Given the description of an element on the screen output the (x, y) to click on. 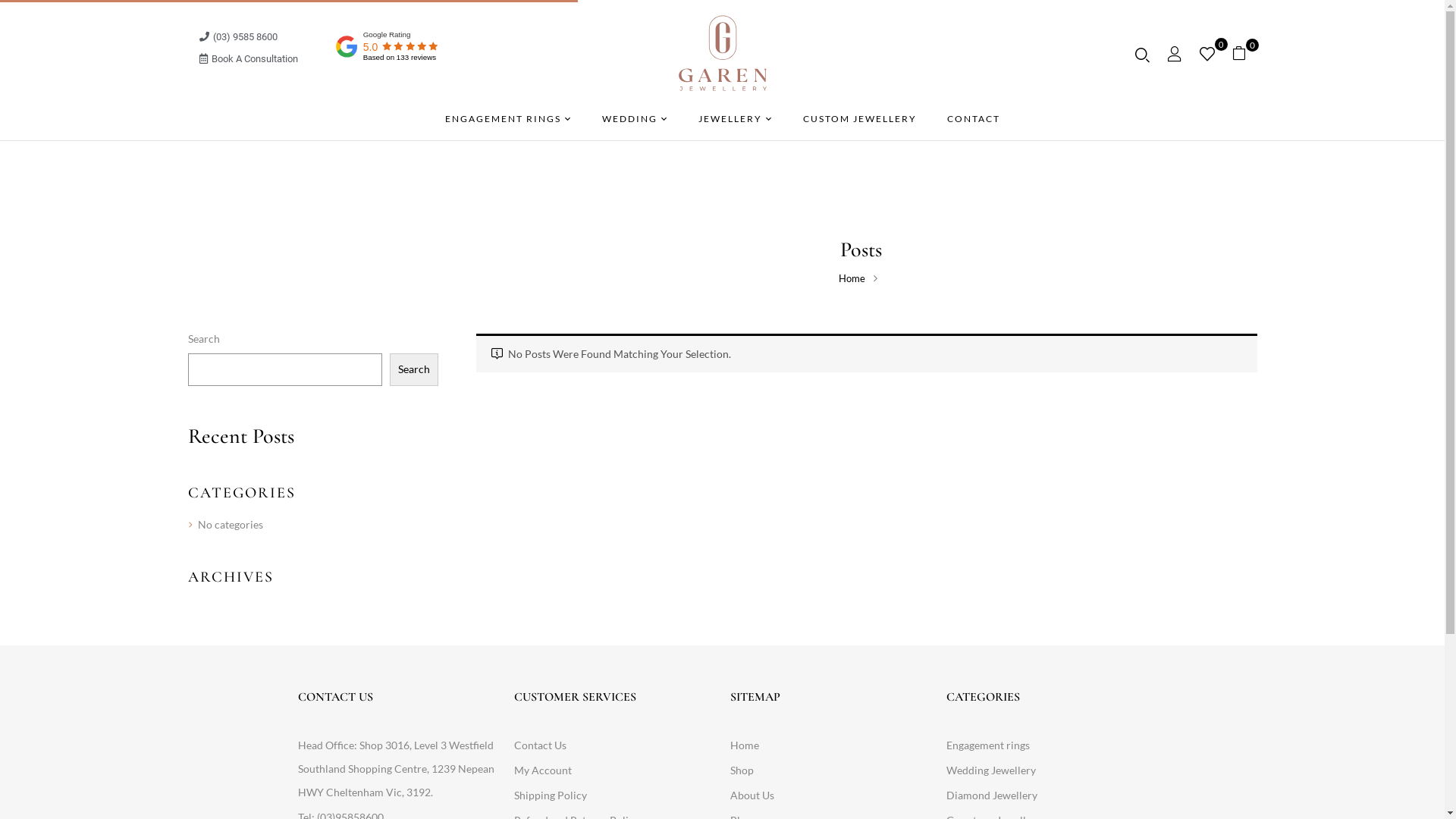
Shipping Policy Element type: text (614, 794)
Home Element type: text (829, 744)
JEWELLERY Element type: text (734, 118)
Wedding Jewellery Element type: text (1046, 769)
Search Element type: text (413, 369)
Book A Consultation Element type: text (247, 58)
(03) 9585 8600 Element type: text (237, 36)
ENGAGEMENT RINGS Element type: text (507, 118)
Shop Element type: text (829, 769)
Home Element type: text (851, 278)
CUSTOM JEWELLERY Element type: text (859, 118)
0 Element type: text (1243, 52)
CONTACT Element type: text (972, 118)
Diamond Jewellery Element type: text (1046, 794)
WEDDING Element type: text (635, 118)
About Us Element type: text (829, 794)
My Account Element type: text (614, 769)
Contact Us Element type: text (614, 744)
Engagement rings Element type: text (1046, 744)
